Given the description of an element on the screen output the (x, y) to click on. 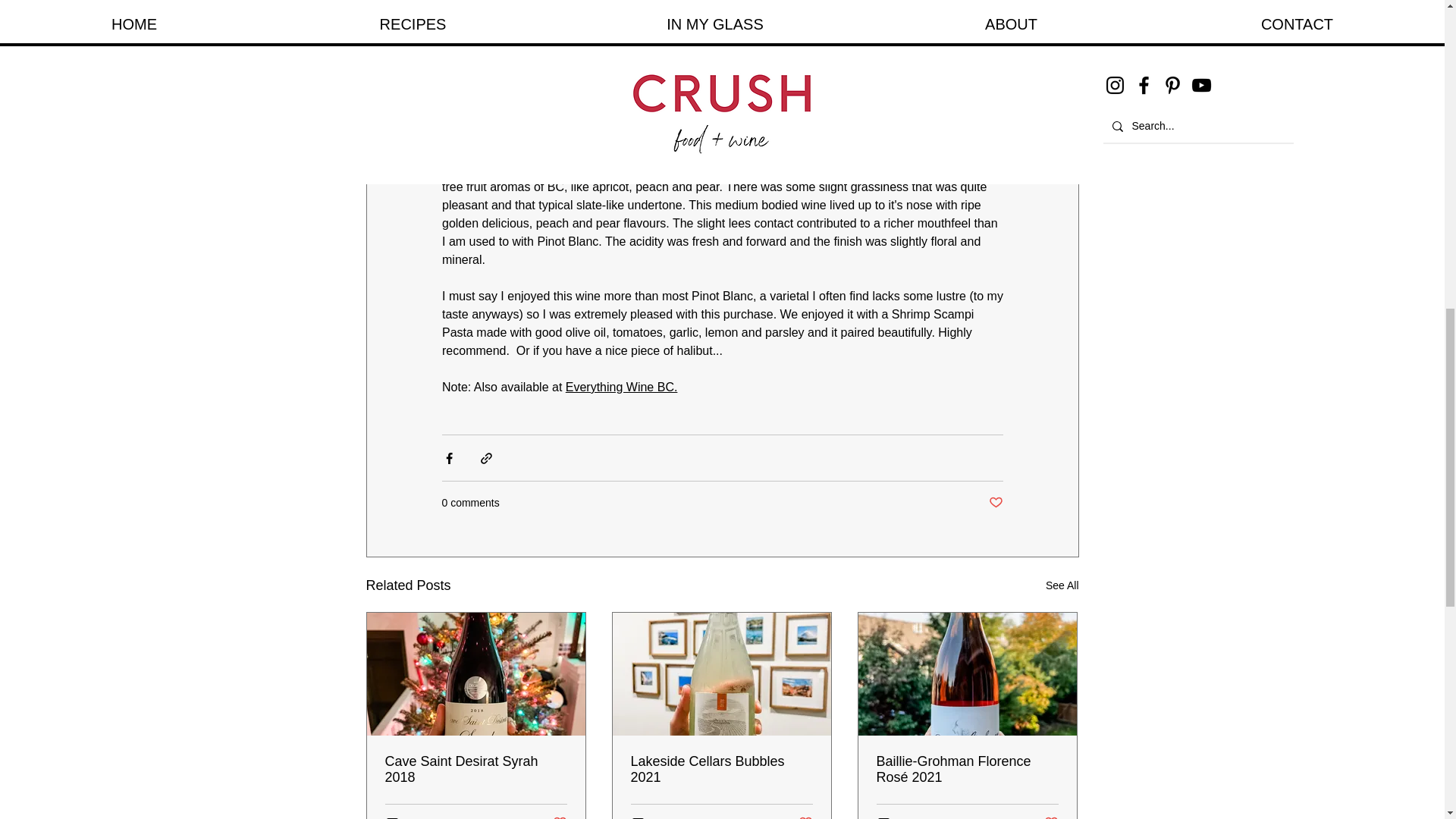
Post not marked as liked (804, 816)
Lakeside Cellars Bubbles 2021 (721, 769)
Everything Wine BC. (620, 386)
0 (643, 817)
0 (397, 817)
Post not marked as liked (558, 816)
See All (1061, 585)
Cave Saint Desirat Syrah 2018 (476, 769)
Post not marked as liked (995, 503)
